Given the description of an element on the screen output the (x, y) to click on. 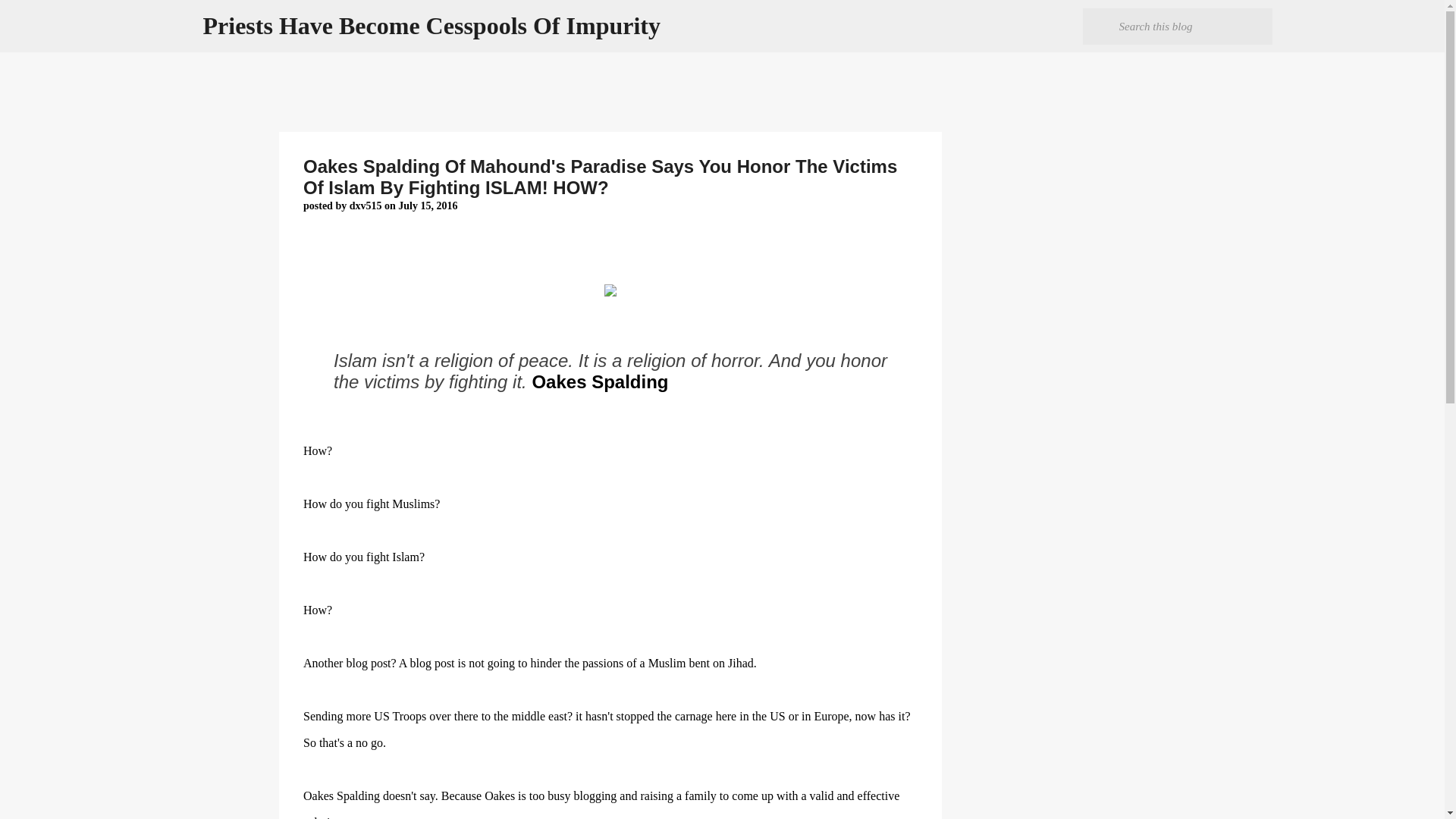
July 15, 2016 (427, 205)
author profile (366, 205)
dxv515 (366, 205)
Priests Have Become Cesspools Of Impurity (432, 25)
permanent link (427, 205)
Oakes Spalding (599, 381)
